Given the description of an element on the screen output the (x, y) to click on. 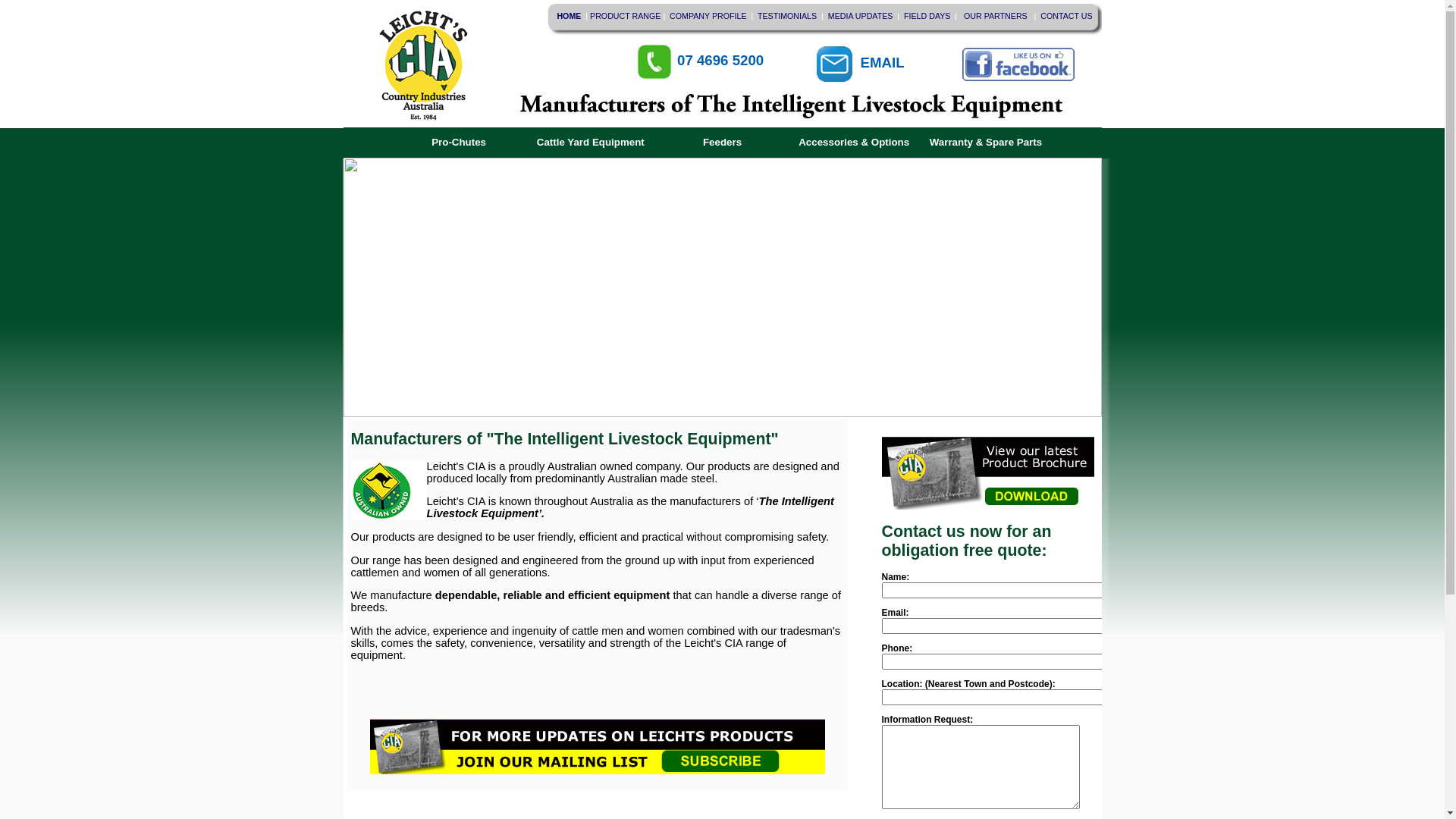
PRODUCT RANGE Element type: text (624, 15)
FIELD DAYS Element type: text (926, 15)
OUR PARTNERS   Element type: text (997, 15)
Pro-Chutes Element type: text (458, 142)
Cattle Yard Equipment Element type: text (590, 142)
MEDIA UPDATES  Element type: text (862, 15)
TESTIMONIALS  Element type: text (788, 15)
COMPANY PROFILE  Element type: text (708, 15)
 CONTACT US Element type: text (1065, 15)
Feeders Element type: text (722, 142)
EMAIL Element type: text (858, 64)
07 4696 5200 Element type: text (699, 64)
HOME  Element type: text (569, 15)
Accessories & Options Element type: text (853, 142)
Warranty & Spare Parts Element type: text (985, 142)
